Given the description of an element on the screen output the (x, y) to click on. 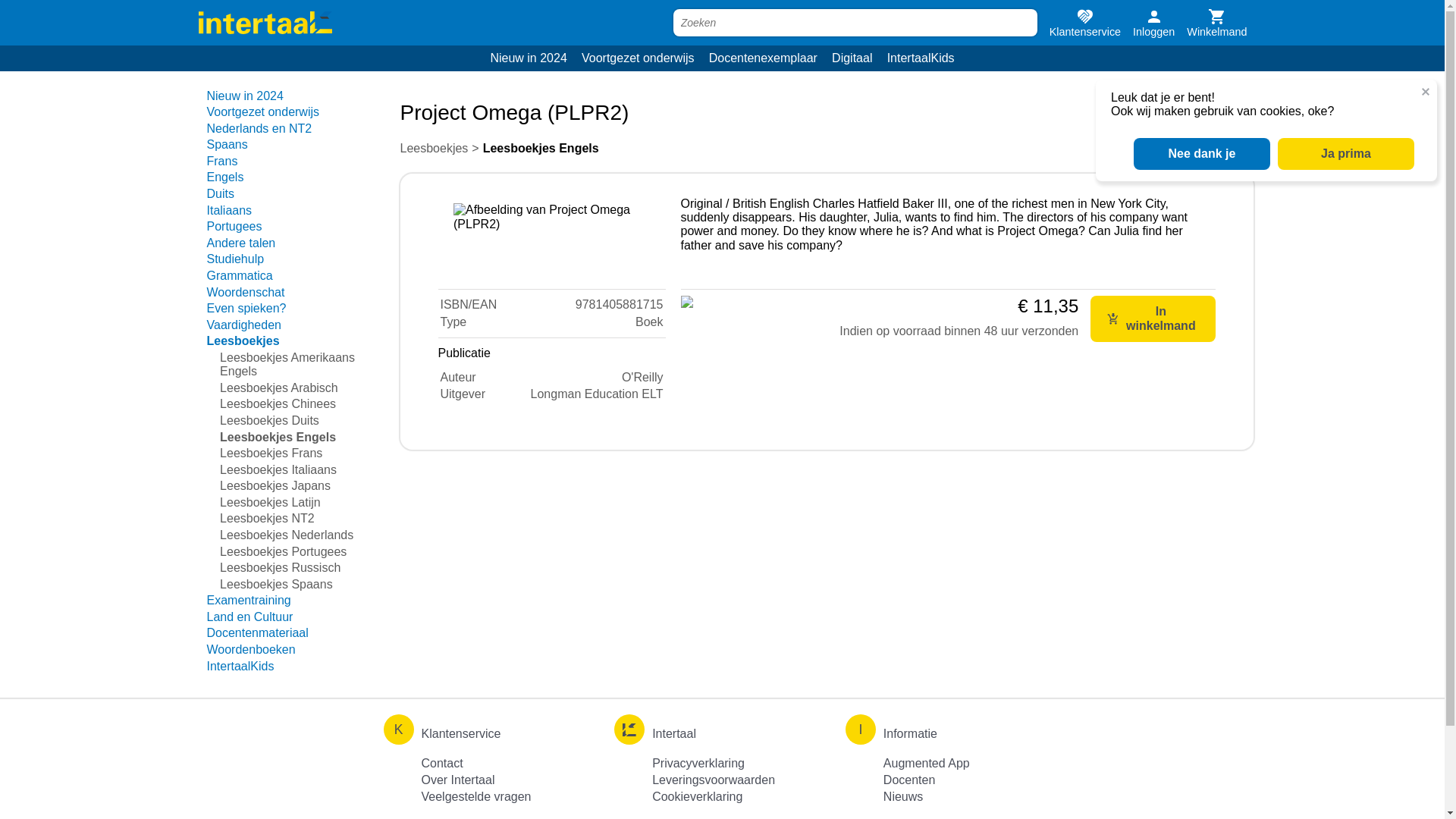
Digitaal (852, 58)
Voortgezet onderwijs (637, 58)
Woordenschat (244, 291)
IntertaalKids (919, 58)
Nieuw in 2024 (529, 58)
Engels (224, 176)
Leesboekjes Frans (270, 452)
Andere talen (240, 242)
Leesboekjes Italiaans (277, 469)
Leesboekjes Amerikaans Engels (287, 364)
